Given the description of an element on the screen output the (x, y) to click on. 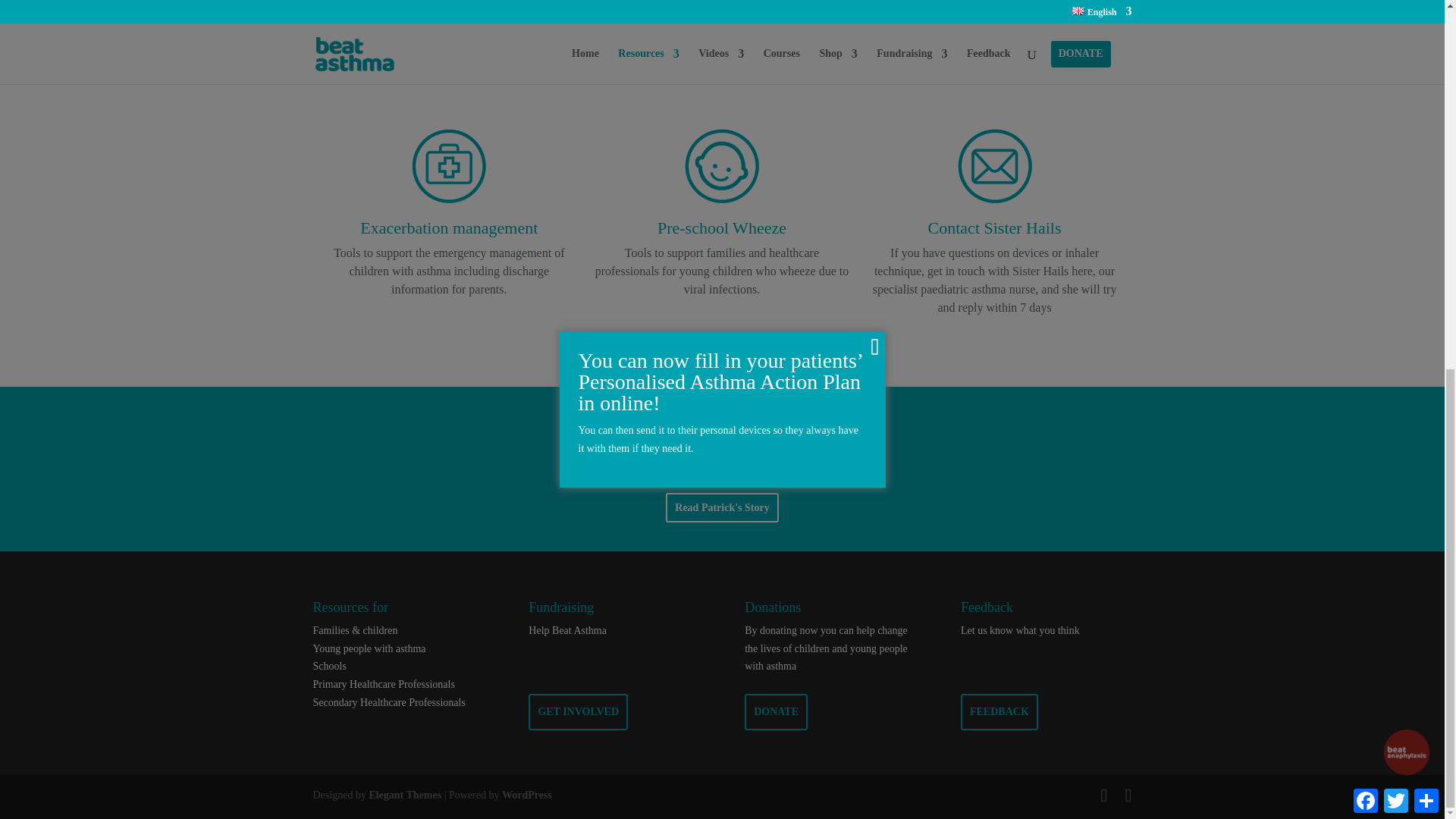
Contact Sister Hails (994, 227)
Twitter (1395, 132)
Exacerbation management (448, 199)
Facebook (1365, 132)
Premium WordPress Themes (404, 794)
Chronic management (994, 26)
Contact Sister Hails (994, 199)
Pre-school Wheeze (722, 199)
Asthma Diagnosis (722, 2)
Asthma Diagnosis (722, 26)
Chronic management (994, 2)
Why is asthma serious? (448, 2)
Why is asthma serious? (448, 26)
Pre-school Wheeze (722, 227)
Exacerbation management (448, 227)
